Given the description of an element on the screen output the (x, y) to click on. 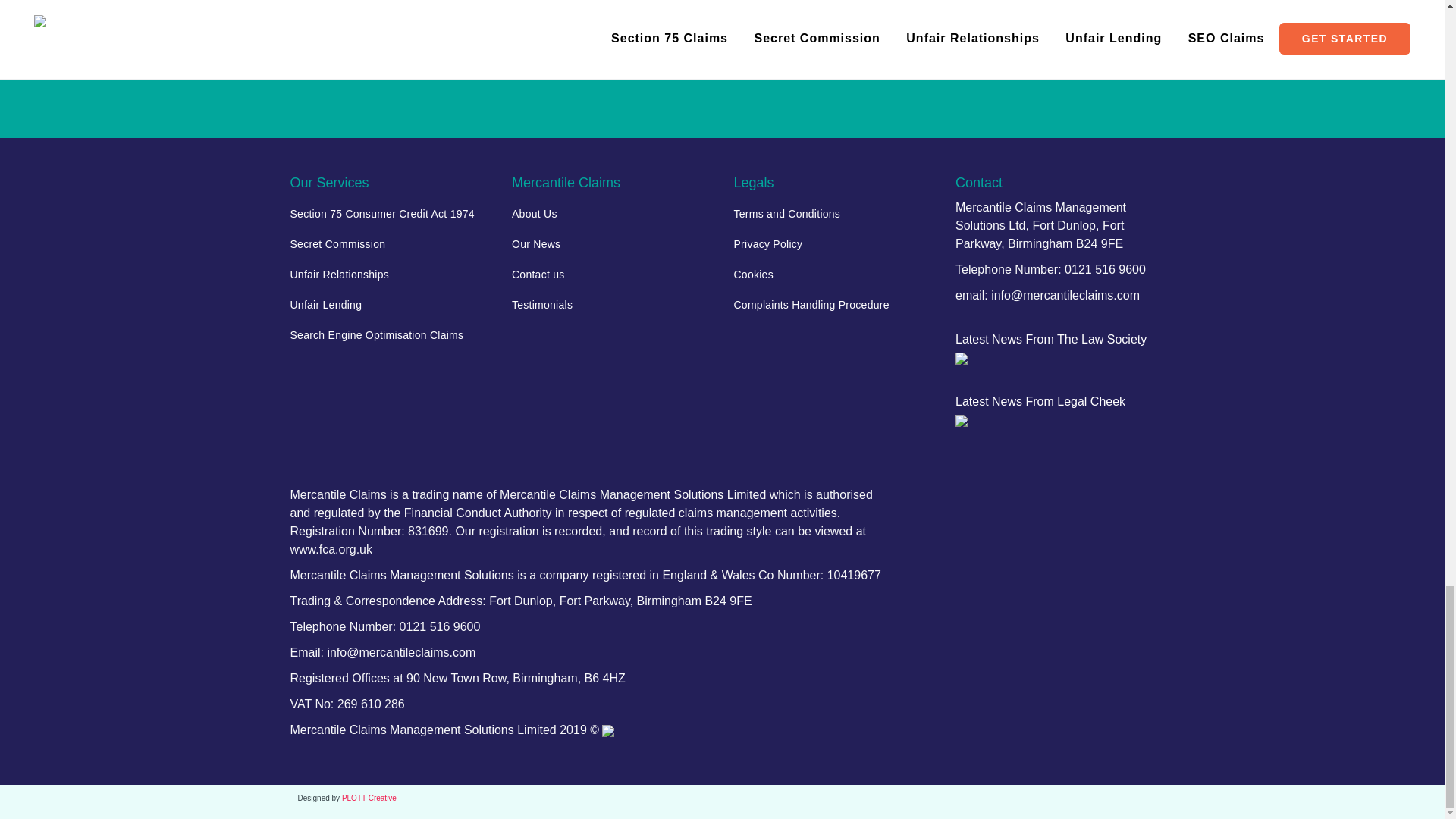
Secret Commission (389, 244)
Send Enquiry (722, 24)
Section 75 Consumer Credit Act 1974 (389, 214)
Unfair Relationships (389, 274)
Send Enquiry (722, 24)
